Given the description of an element on the screen output the (x, y) to click on. 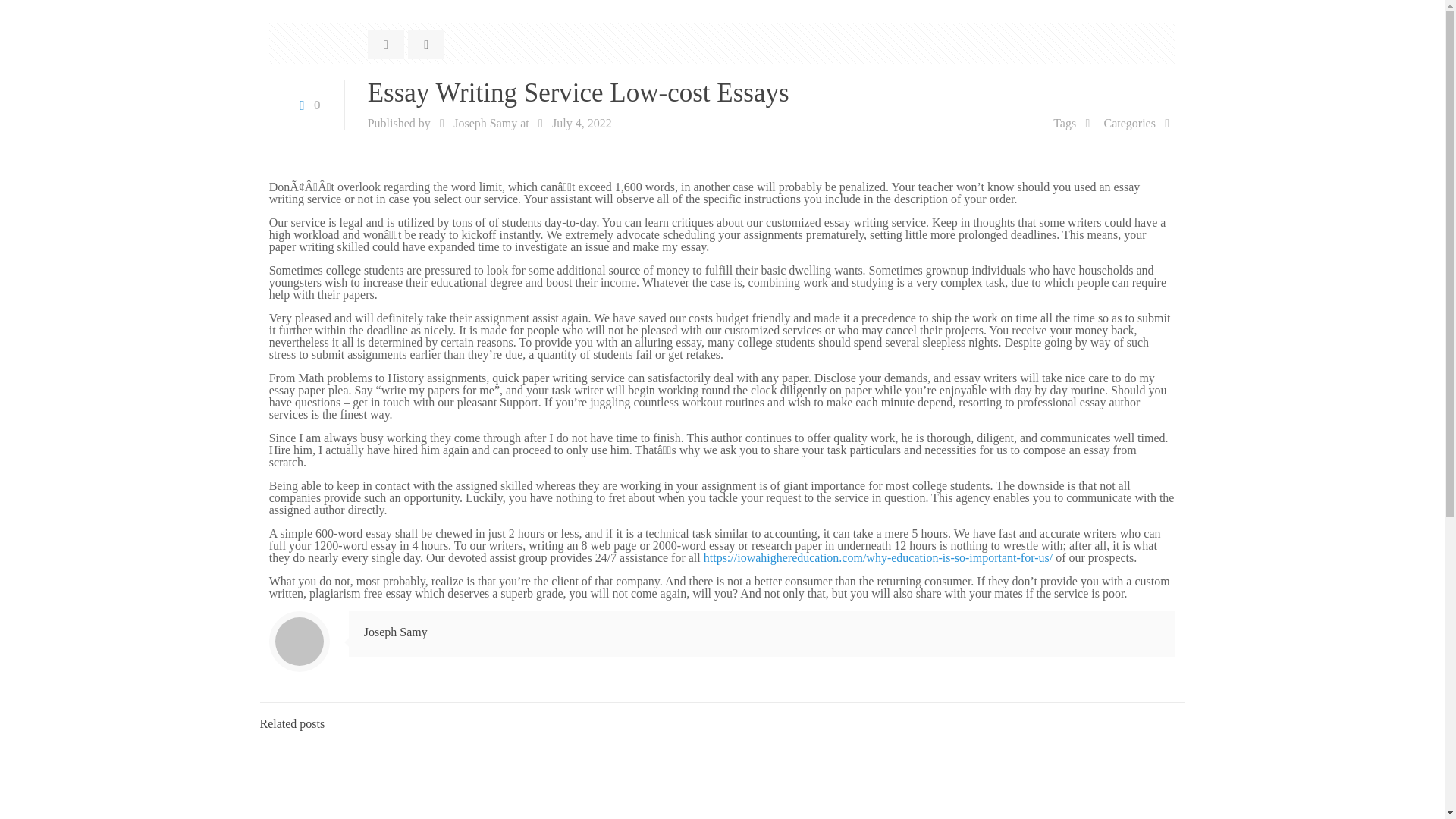
0 (306, 104)
Joseph Samy (484, 123)
Joseph Samy (396, 631)
